Given the description of an element on the screen output the (x, y) to click on. 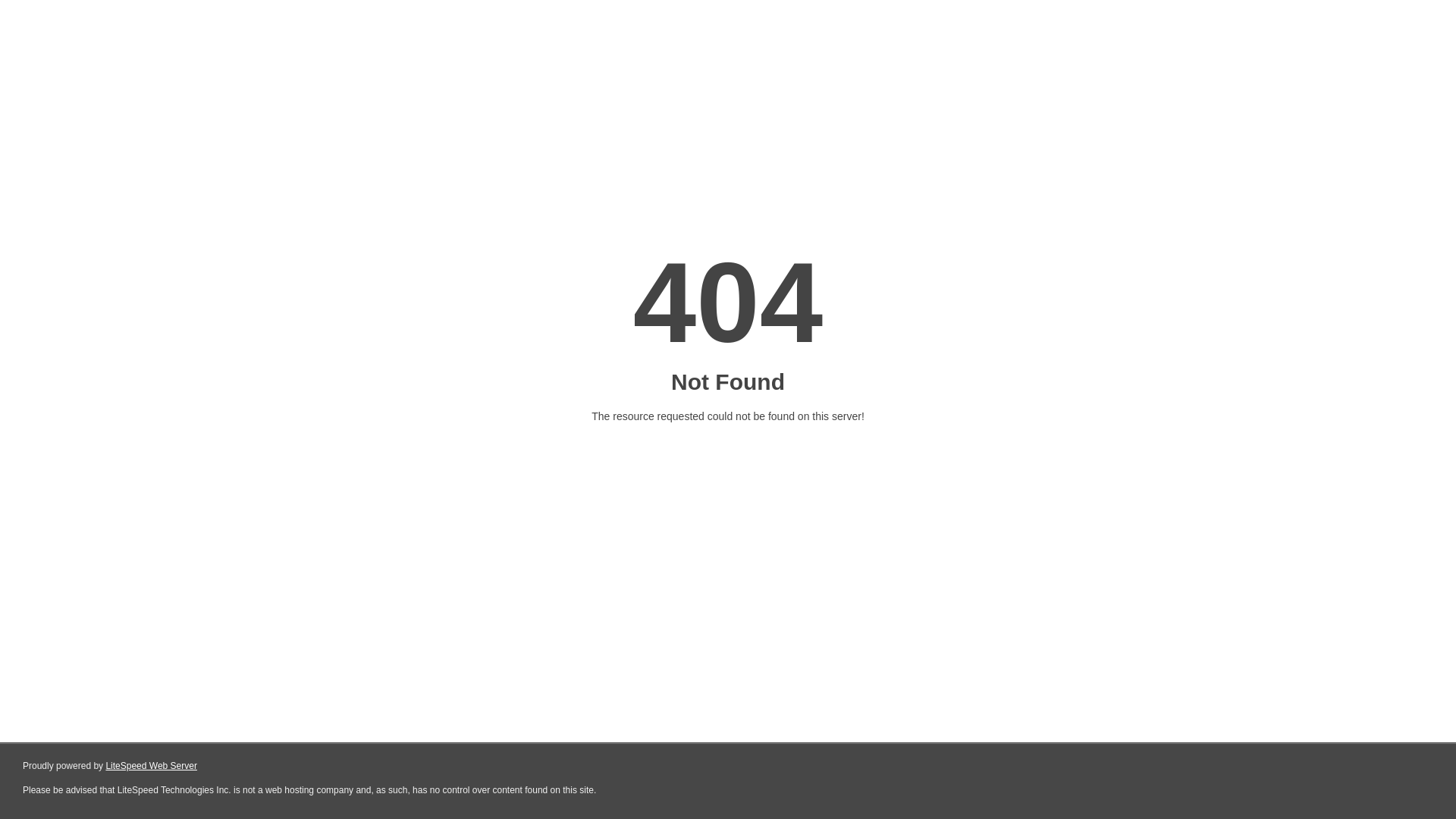
LiteSpeed Web Server Element type: text (151, 765)
